Given the description of an element on the screen output the (x, y) to click on. 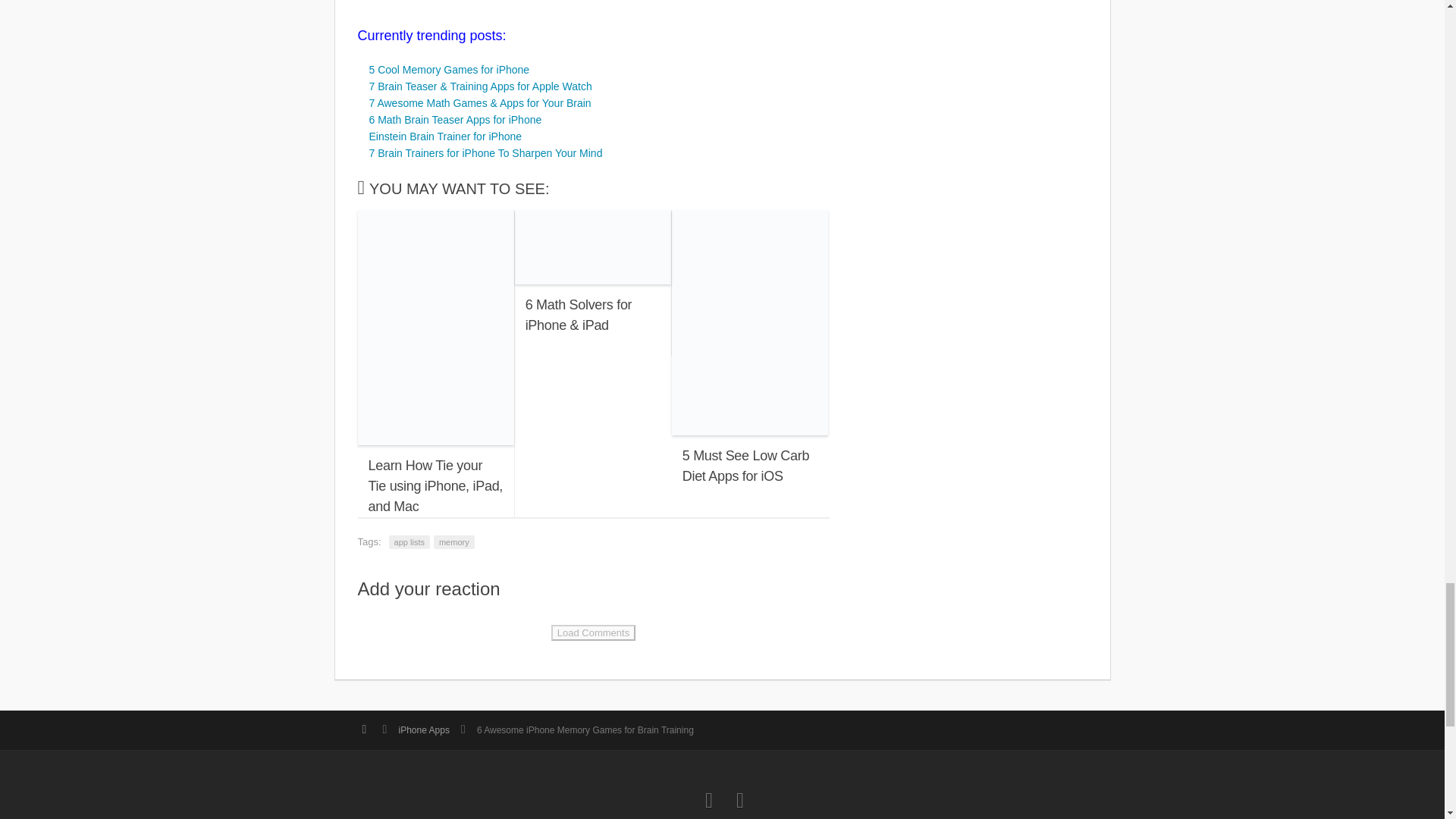
7 Brain Trainers for iPhone To Sharpen Your Mind (485, 152)
5 Cool Memory Games for iPhone (448, 69)
Einstein Brain Trainer for iPhone (444, 136)
6 Math Brain Teaser Apps for iPhone (454, 119)
